Given the description of an element on the screen output the (x, y) to click on. 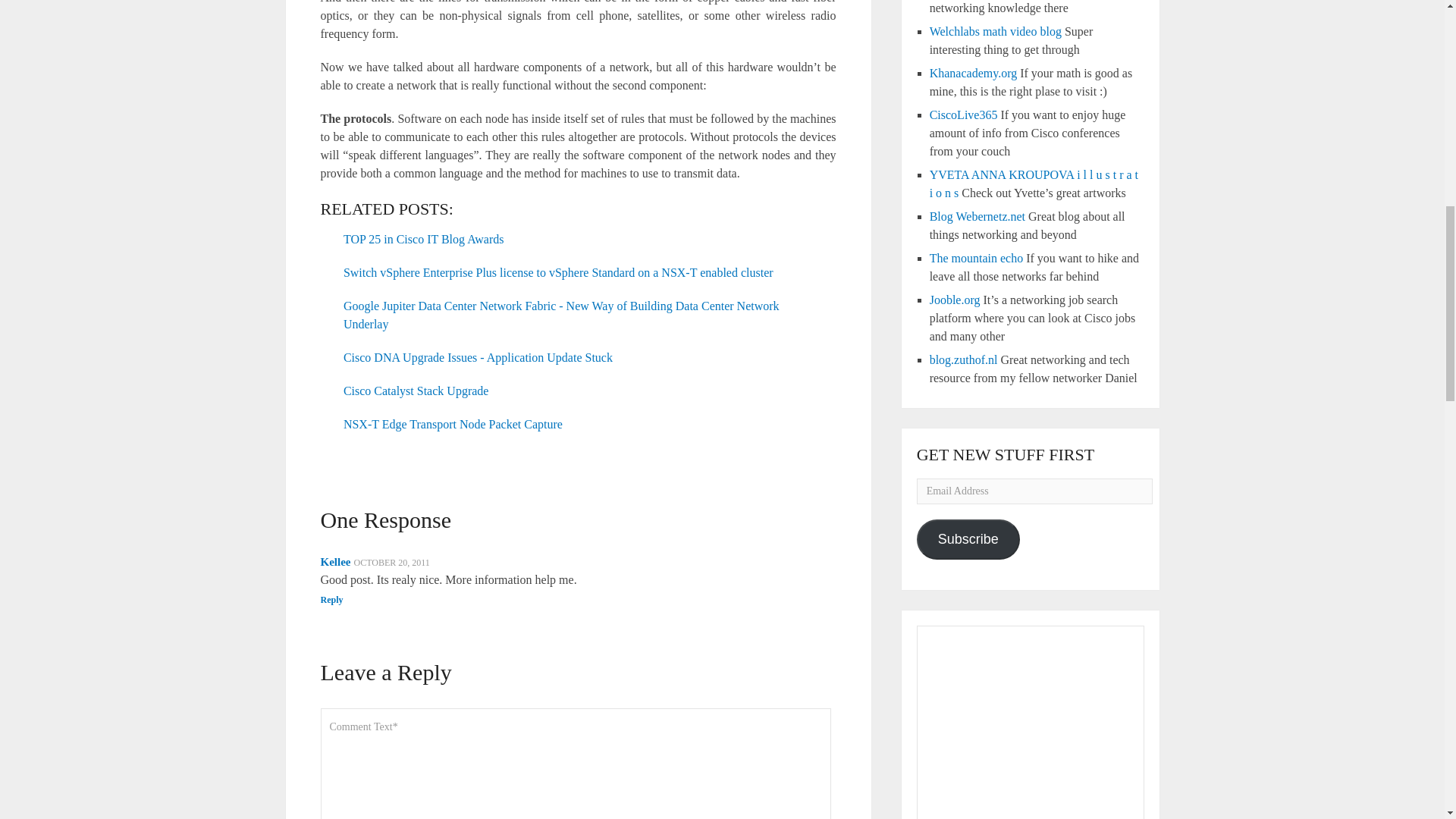
TOP 25 in Cisco IT Blog Awards (423, 238)
Cisco DNA Upgrade Issues - Application Update Stuck (477, 357)
Super interesting thing to get through (995, 31)
NSX-T Edge Transport Node Packet Capture (452, 423)
Cisco Catalyst Stack Upgrade (416, 390)
Great blog about all things networking and beyond (977, 215)
If you want to hike and leave all those networks far behind (976, 257)
